Given the description of an element on the screen output the (x, y) to click on. 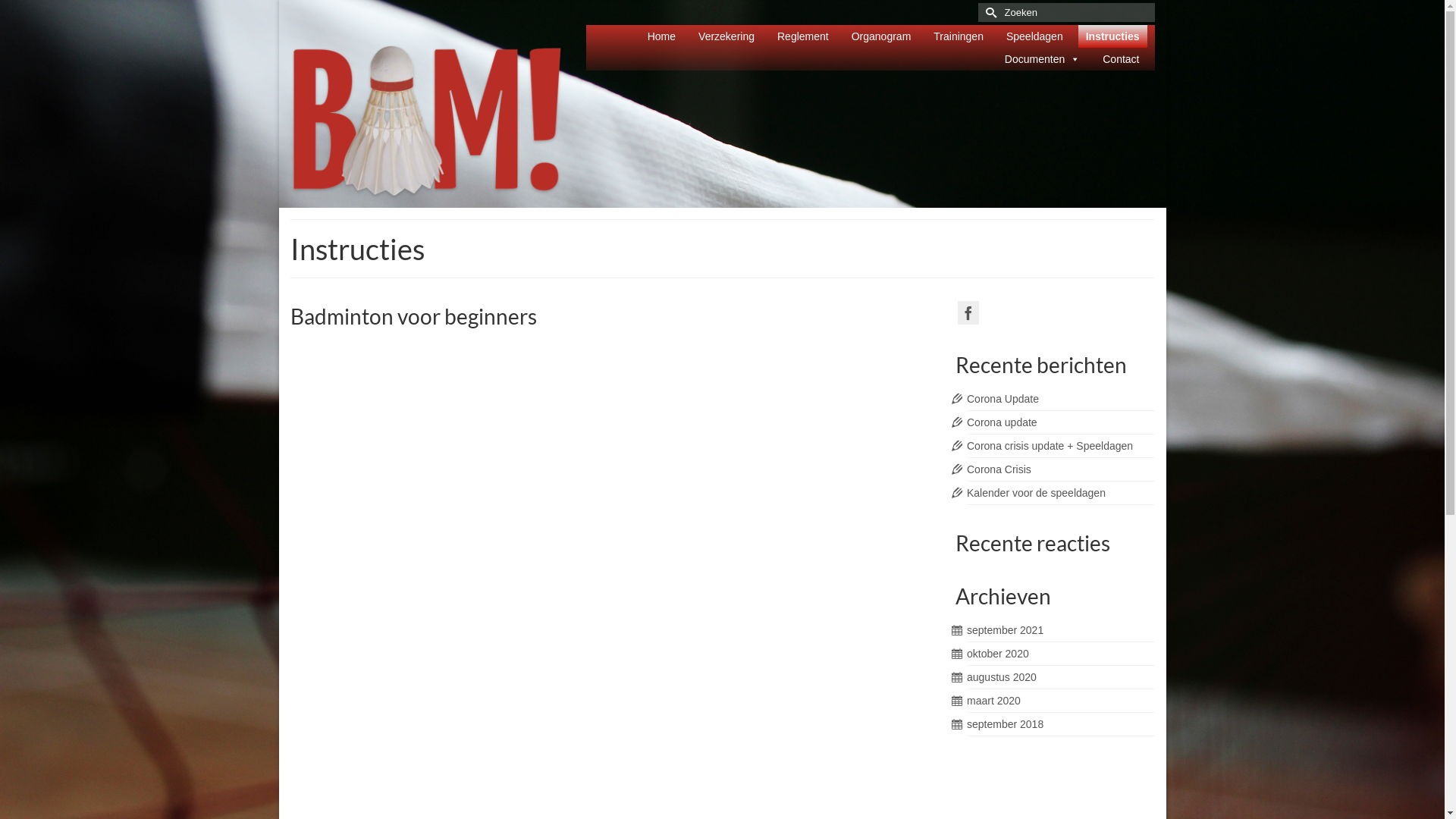
Home Element type: text (661, 36)
Instructies Element type: text (1112, 36)
maart 2020 Element type: text (993, 700)
september 2021 Element type: text (1004, 630)
Kalender voor de speeldagen Element type: text (1035, 492)
Corona crisis update + Speeldagen Element type: text (1049, 445)
Verzekering Element type: text (726, 36)
Contact Element type: text (1120, 58)
Organogram Element type: text (881, 36)
augustus 2020 Element type: text (1001, 677)
oktober 2020 Element type: text (997, 653)
Corona Crisis Element type: text (998, 469)
Bam Meerhout Element type: hover (425, 121)
Corona update Element type: text (1001, 422)
Documenten Element type: text (1042, 58)
september 2018 Element type: text (1004, 724)
Speeldagen Element type: text (1034, 36)
Corona Update Element type: text (1002, 398)
Reglement Element type: text (802, 36)
Trainingen Element type: text (958, 36)
